Given the description of an element on the screen output the (x, y) to click on. 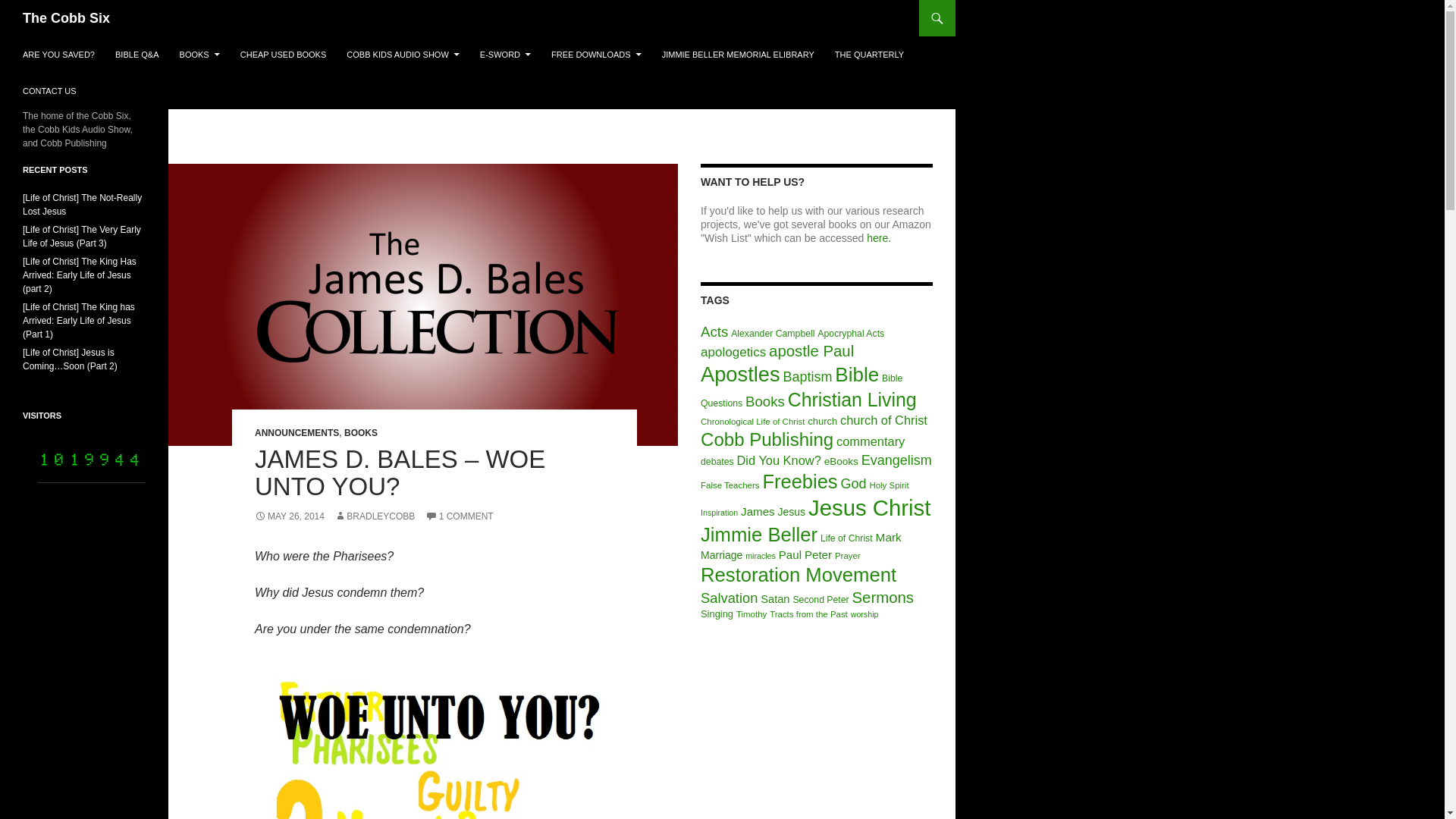
CHEAP USED BOOKS (283, 54)
ARE YOU SAVED? (58, 54)
BOOKS (199, 54)
The Cobb Six (66, 18)
COBB KIDS AUDIO SHOW (402, 54)
